Given the description of an element on the screen output the (x, y) to click on. 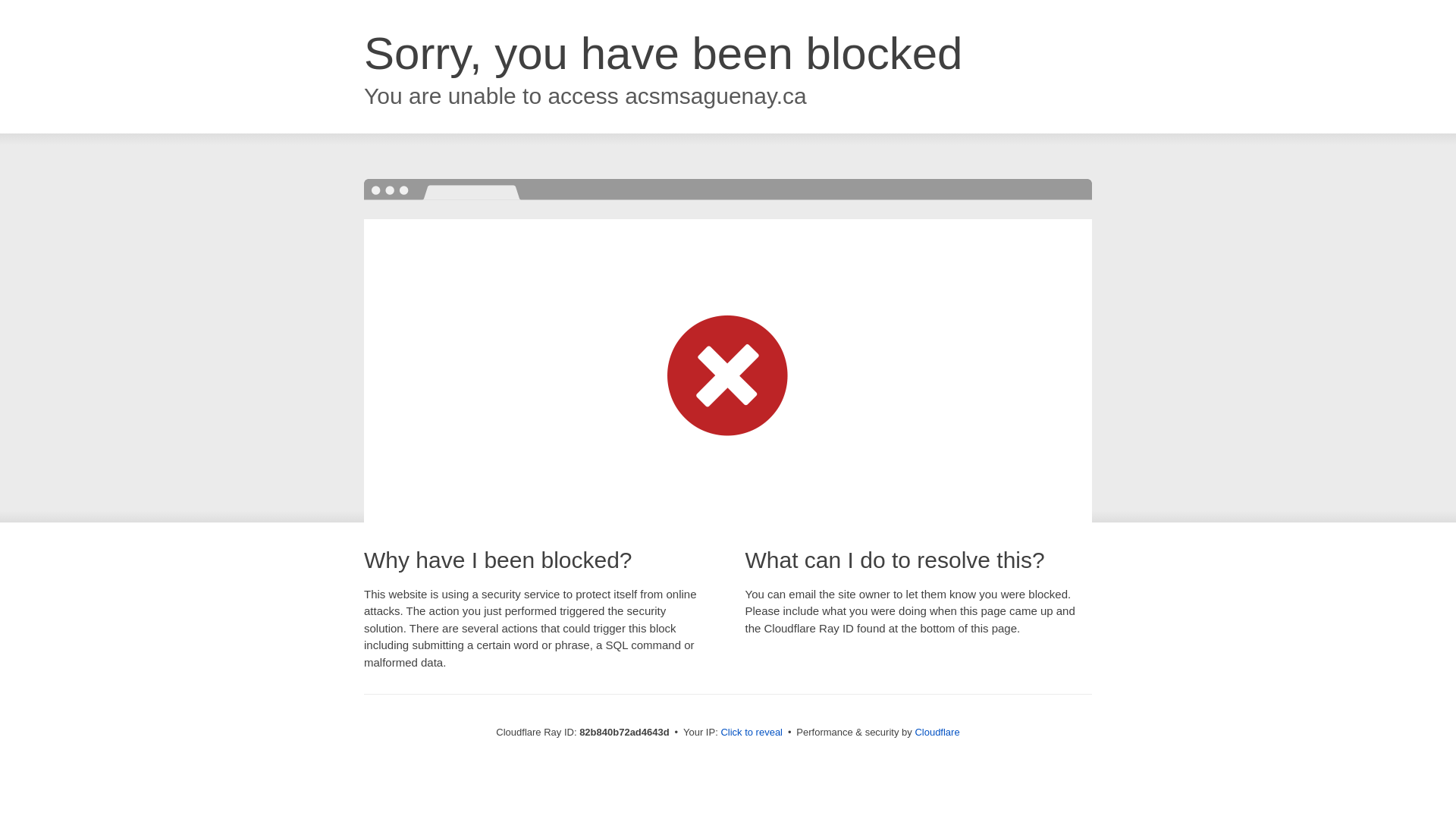
Click to reveal Element type: text (751, 732)
Cloudflare Element type: text (936, 731)
